Given the description of an element on the screen output the (x, y) to click on. 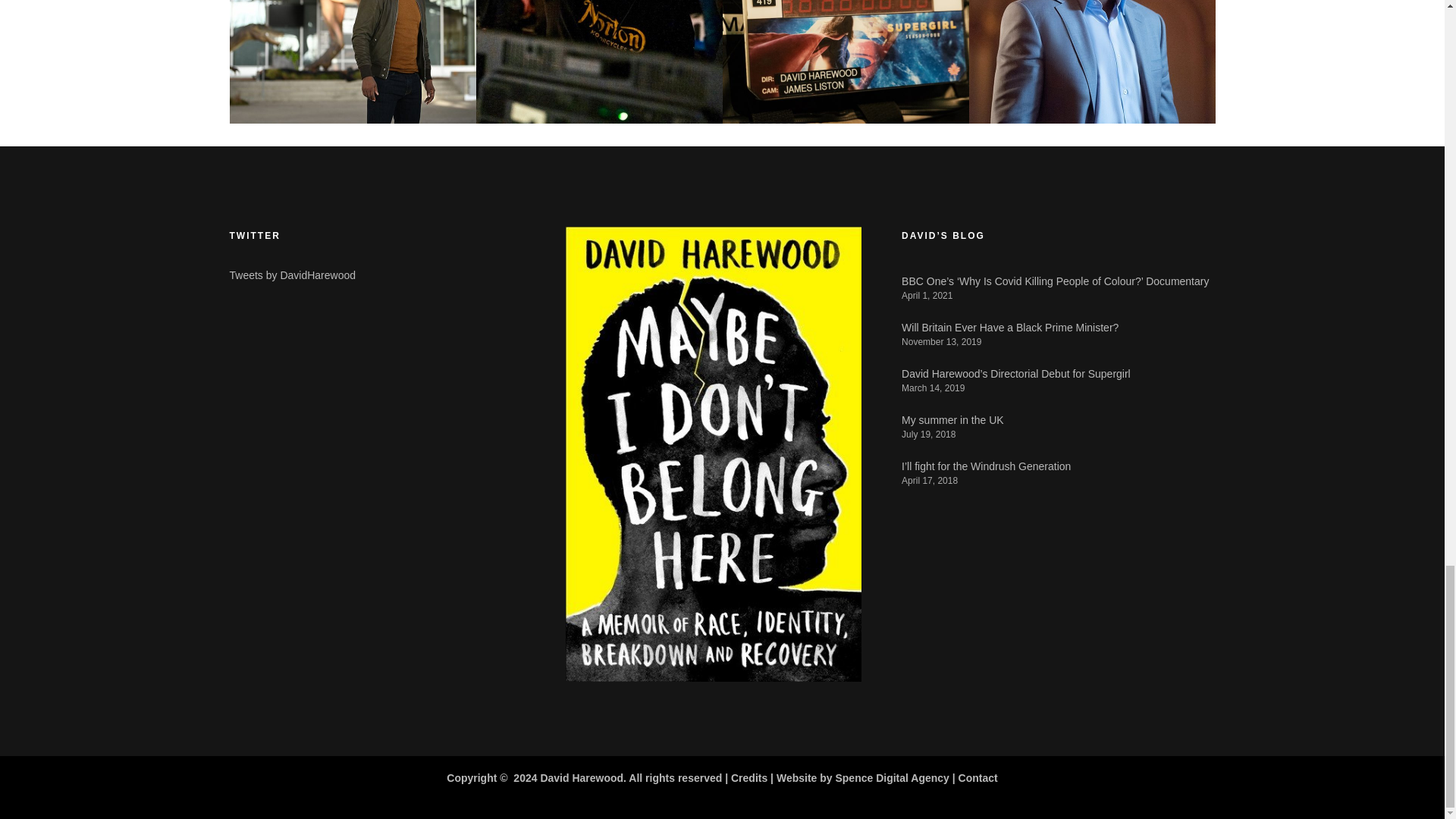
Tweets by DavidHarewood (291, 275)
